Given the description of an element on the screen output the (x, y) to click on. 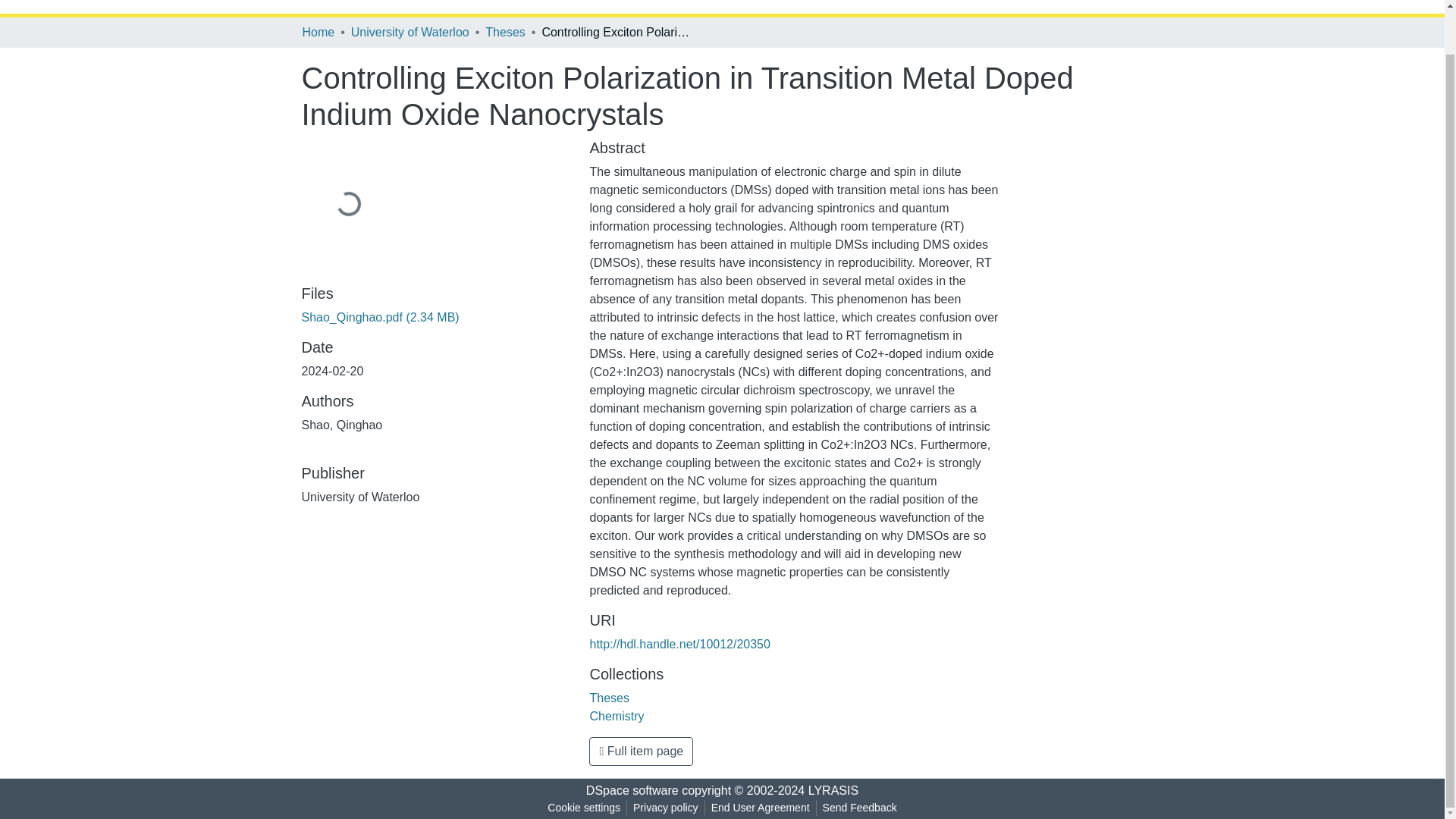
End User Agreement (759, 807)
Home (317, 32)
LYRASIS (833, 789)
Send Feedback (859, 807)
Cookie settings (583, 807)
Theses (504, 32)
Full item page (641, 751)
Chemistry (616, 716)
Theses (608, 697)
Privacy policy (665, 807)
